Given the description of an element on the screen output the (x, y) to click on. 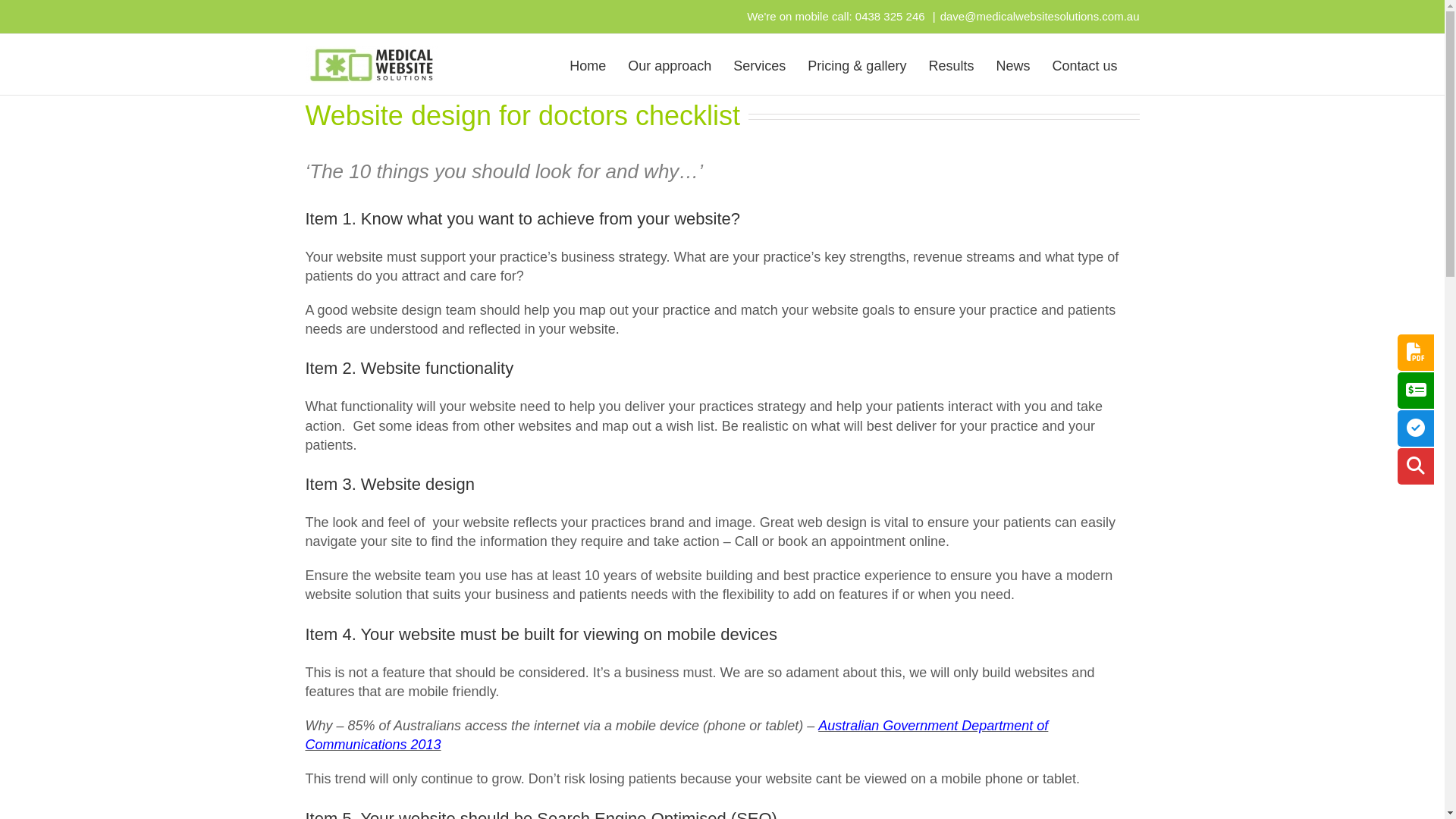
dave@medicalwebsitesolutions.com.au Element type: text (1039, 15)
Pricing & gallery Element type: text (856, 64)
Home Element type: text (587, 64)
News Element type: text (1012, 64)
Services Element type: text (759, 64)
Contact us Element type: text (1084, 64)
Our approach Element type: text (669, 64)
Results Element type: text (950, 64)
Australian Government Department of Communications 2013 Element type: text (676, 735)
